Given the description of an element on the screen output the (x, y) to click on. 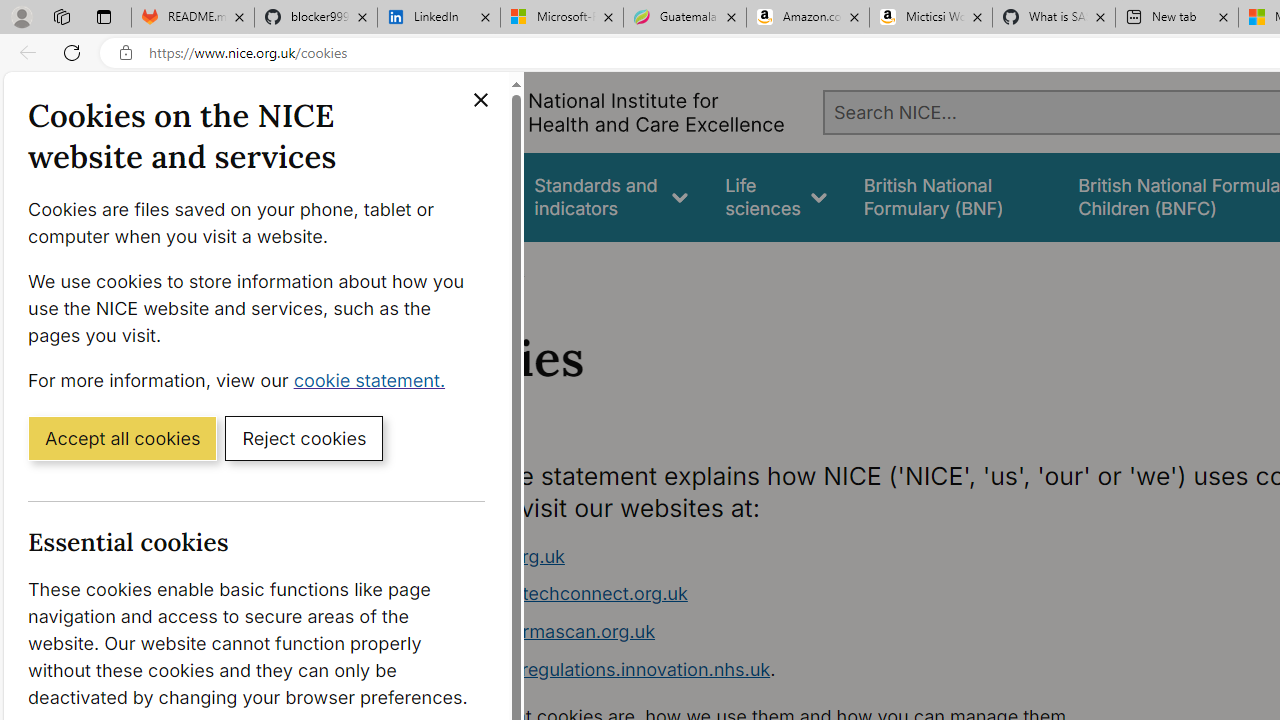
Accept all cookies (122, 437)
Home> (433, 268)
false (952, 196)
Reject cookies (304, 437)
